Given the description of an element on the screen output the (x, y) to click on. 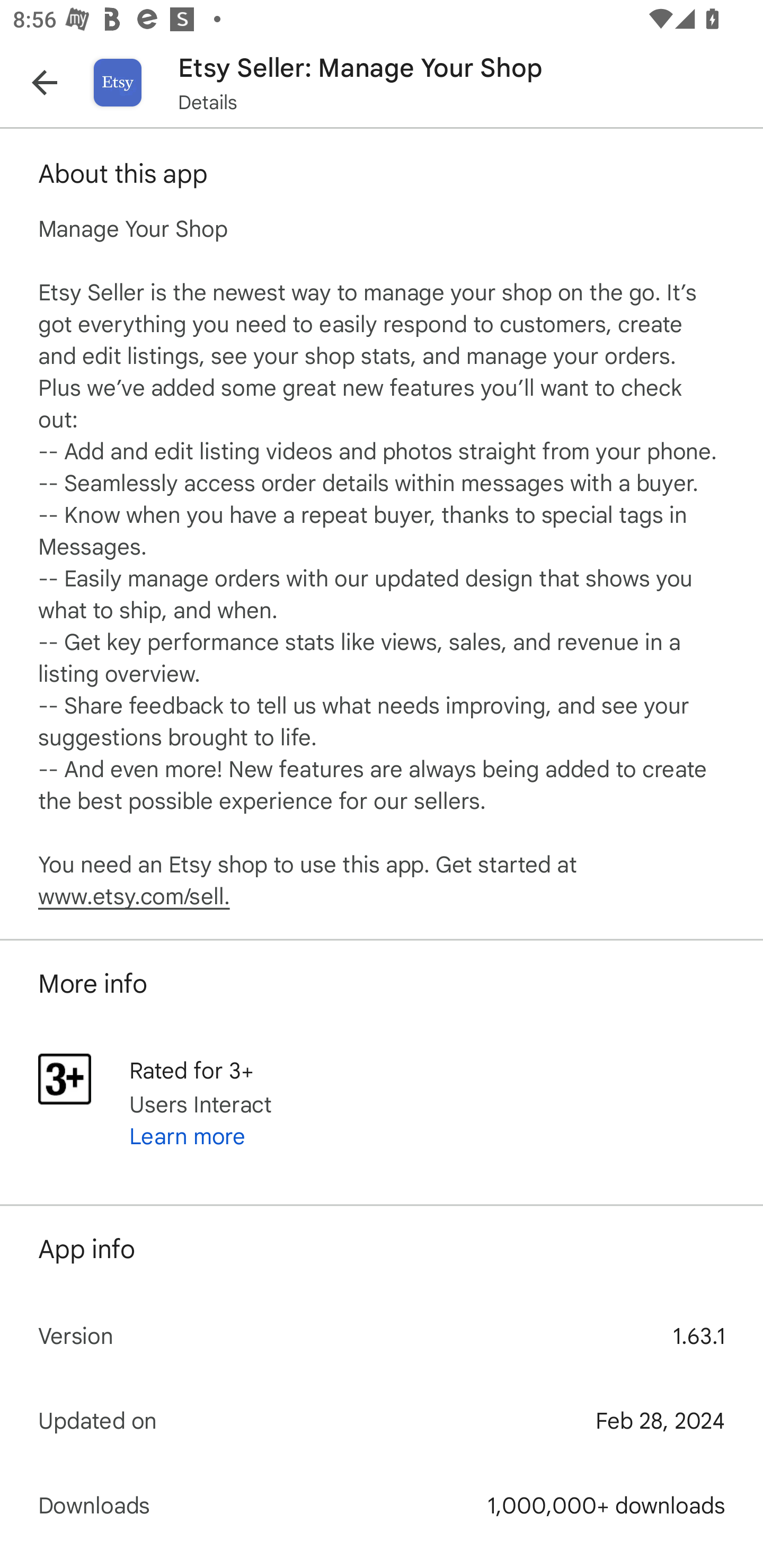
Navigate up (44, 82)
